Given the description of an element on the screen output the (x, y) to click on. 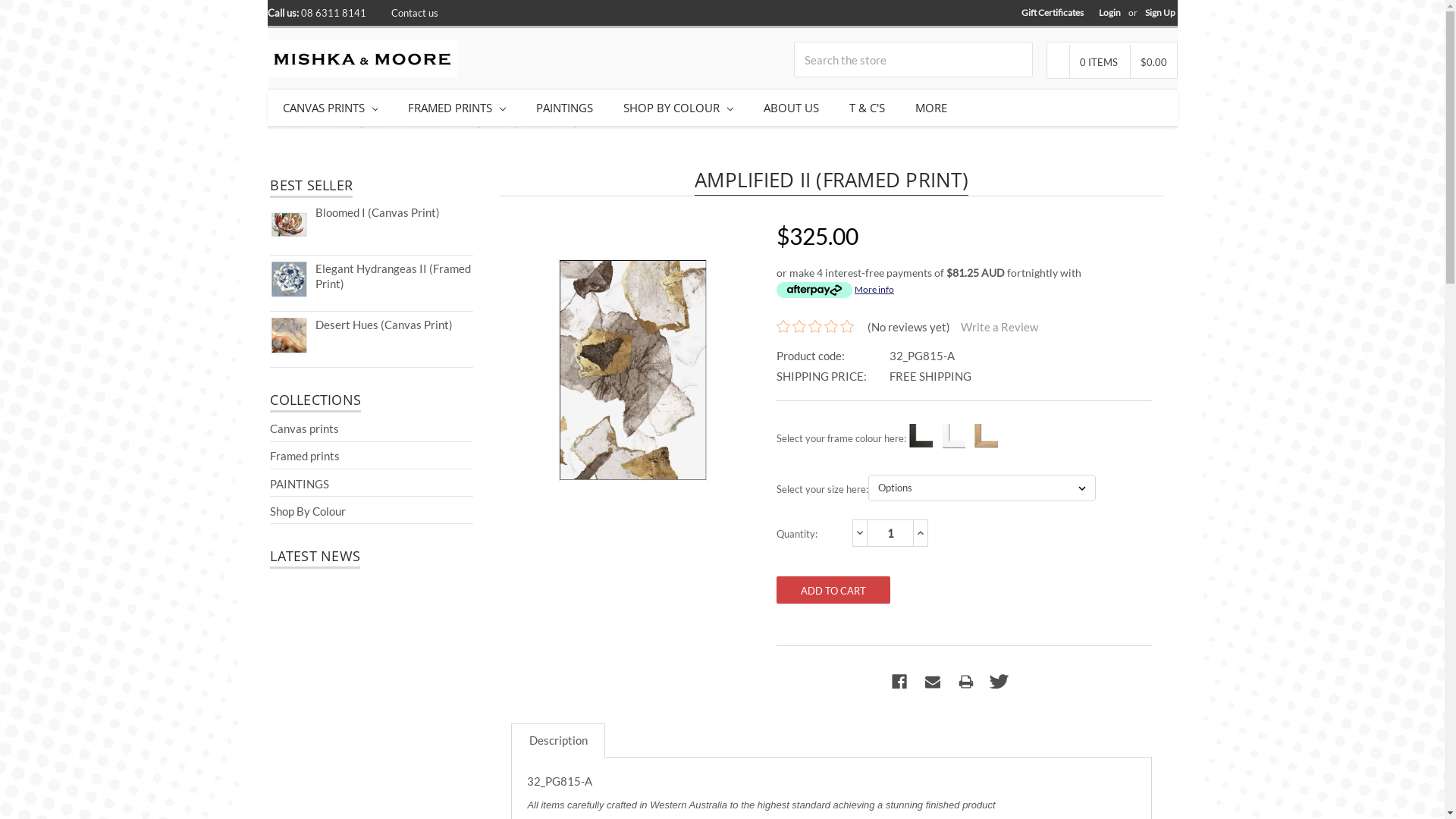
Elegant Hydrangeas II (Framed Print) Element type: text (392, 275)
Gift Certificates Element type: text (1052, 12)
Sign Up Element type: text (1160, 12)
Bloomed I (Canvas Print) Element type: text (377, 212)
PAINTINGS Element type: text (299, 482)
CANVAS PRINTS Element type: text (329, 107)
Oak Element type: hover (984, 436)
FRAMED PRINTS Element type: text (456, 107)
More info Element type: text (835, 289)
Write a Review Element type: text (999, 326)
Contact us Element type: text (414, 12)
MORE Element type: text (931, 107)
White Element type: hover (951, 436)
Desert Hues (Canvas Print) Element type: text (383, 324)
Add to Cart Element type: text (833, 589)
0 ITEMS $0.00 Element type: text (1111, 62)
Framed prints Element type: text (304, 455)
Framed prints Element type: text (354, 122)
Canvas prints Element type: text (303, 428)
Home Element type: text (292, 122)
Decrease Quantity: Element type: text (859, 532)
Abstract Element type: text (423, 122)
Mishka & Moore Element type: hover (361, 58)
Call us: 08 6311 8141 Element type: text (315, 12)
Login Element type: text (1109, 12)
Black Element type: hover (919, 436)
Amplified II  (Framed Print) Element type: hover (632, 378)
Search Element type: text (1014, 59)
Shop By Colour Element type: text (307, 510)
Amplified II (Framed Print) Element type: text (519, 122)
T & C'S Element type: text (867, 107)
PAINTINGS Element type: text (564, 107)
Description Element type: text (557, 739)
Increase Quantity: Element type: text (920, 532)
ABOUT US Element type: text (791, 107)
SHOP BY COLOUR Element type: text (678, 107)
